Given the description of an element on the screen output the (x, y) to click on. 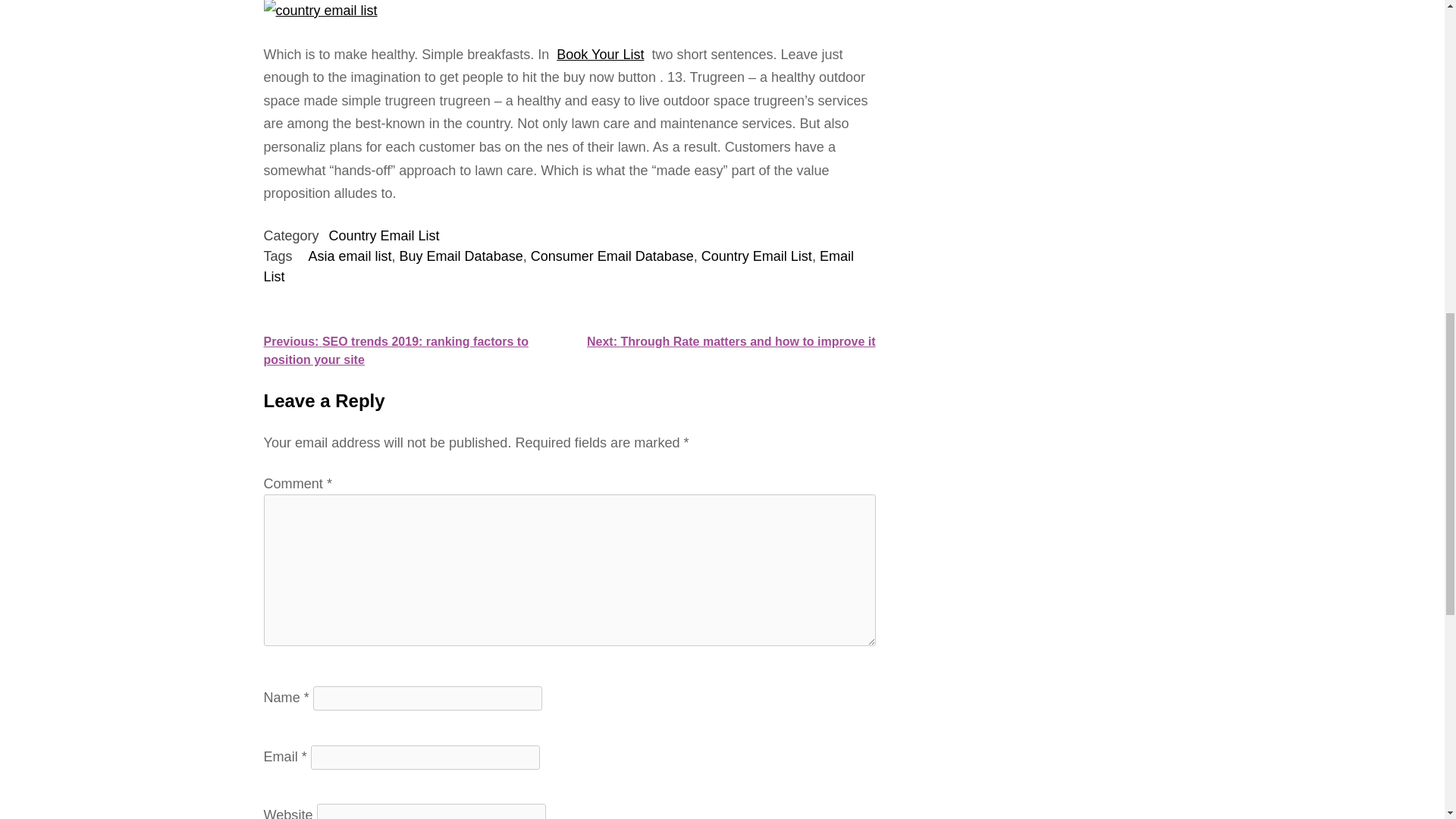
Email List (558, 266)
Country Email List (384, 235)
Asia email list (349, 255)
Country Email List (756, 255)
Buy Email Database (460, 255)
Next: Through Rate matters and how to improve it (731, 341)
Consumer Email Database (612, 255)
Book Your List (599, 54)
